Given the description of an element on the screen output the (x, y) to click on. 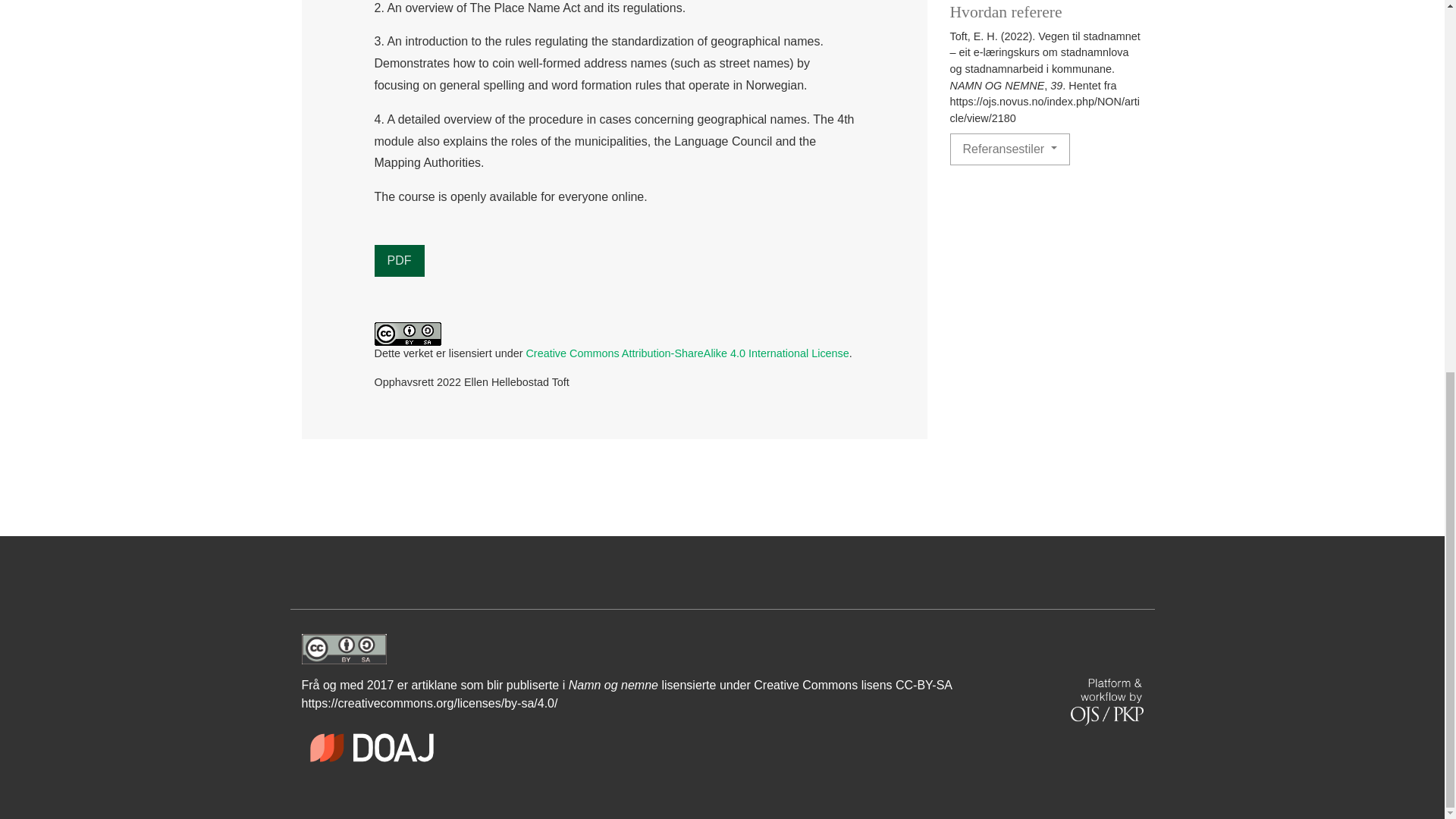
Referansestiler (1008, 149)
PDF (399, 260)
